Given the description of an element on the screen output the (x, y) to click on. 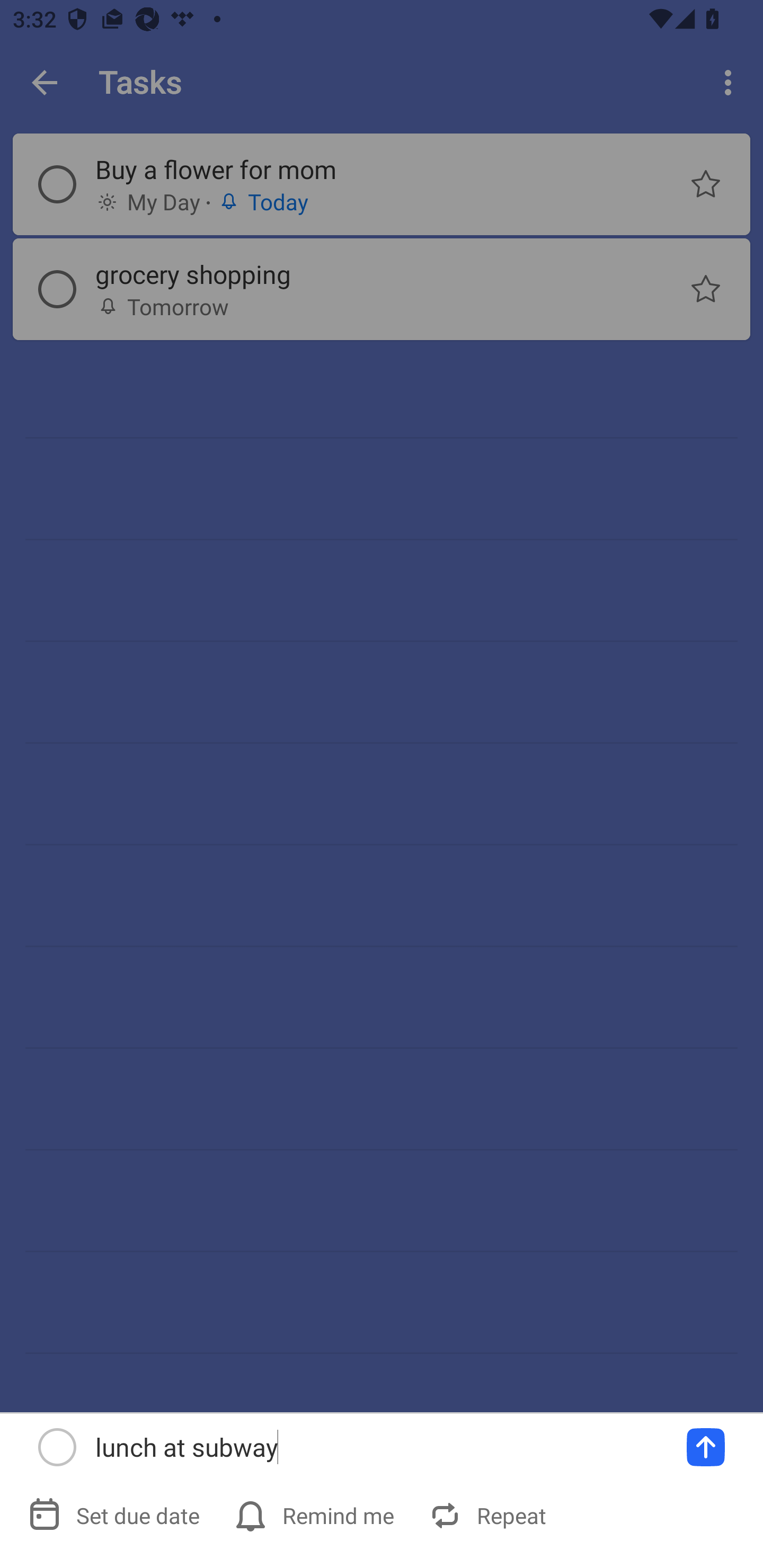
Remind me (315, 1515)
